Given the description of an element on the screen output the (x, y) to click on. 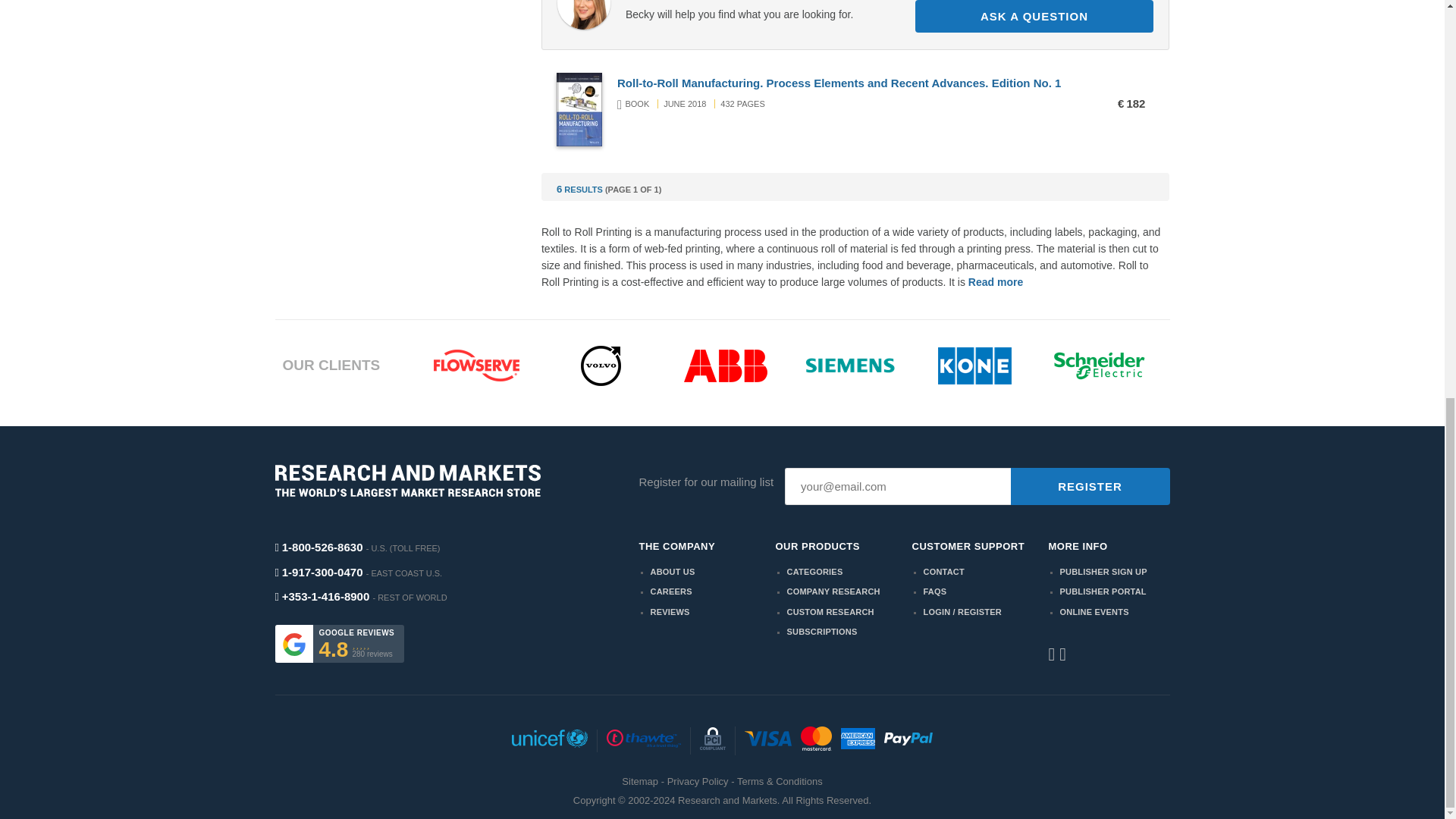
MasterCard (815, 740)
Volvo Car Corporation (600, 365)
PayPal (908, 741)
PCI Compliant (712, 740)
American Express (858, 740)
Siemens AG (850, 364)
Schneider Electric SE (1098, 366)
ABB Ltd. (725, 365)
Thawte (643, 740)
Flowserve Corporation (476, 365)
Kone Oyj (974, 365)
UNICEF Partner (549, 740)
VISA (768, 741)
